Given the description of an element on the screen output the (x, y) to click on. 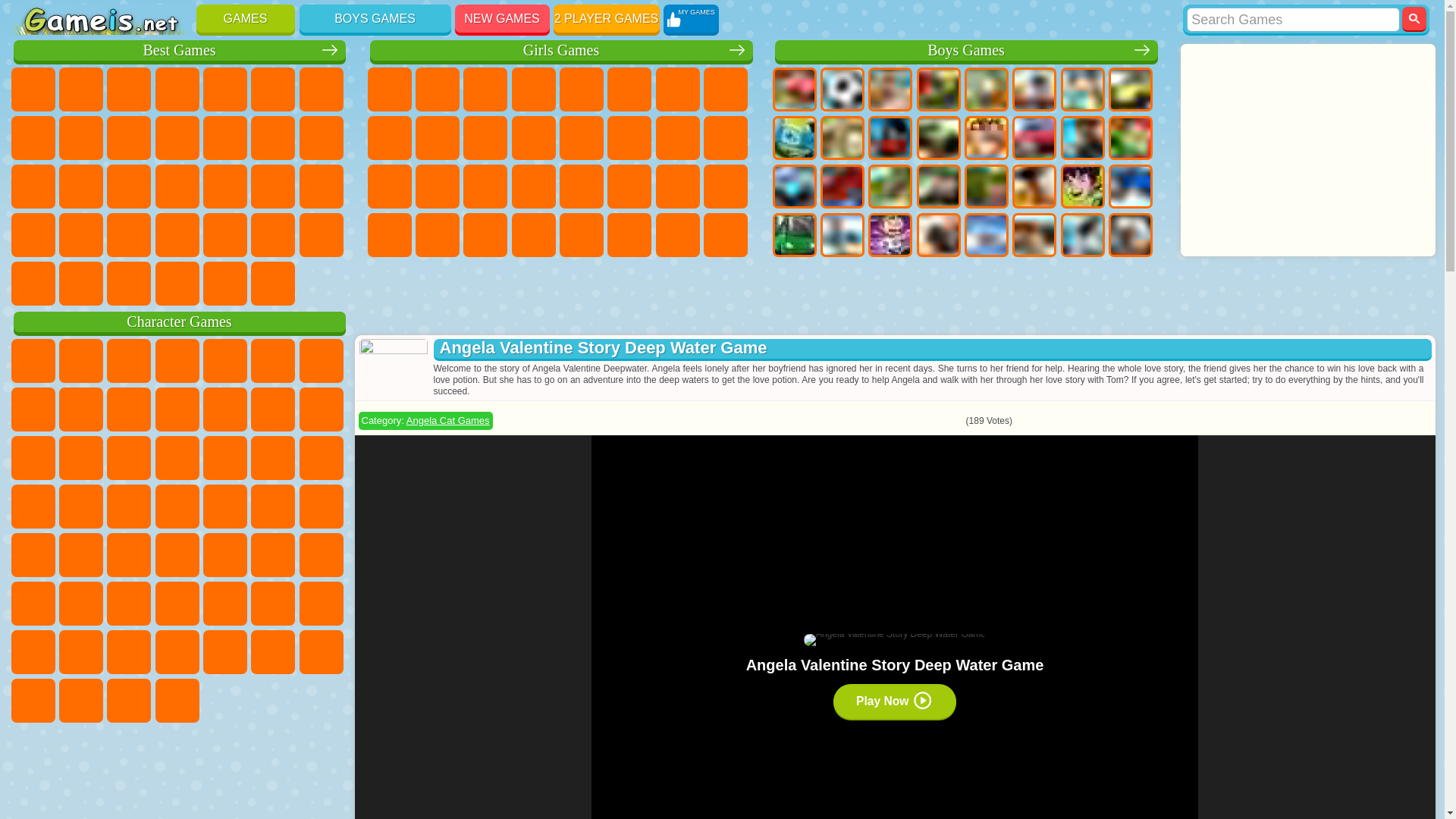
Strategy (889, 89)
Zombie (986, 89)
Football (842, 89)
GTA (1034, 186)
Parking (793, 89)
2 PLAYER GAMES (606, 18)
Zombie Games (986, 89)
Truck (938, 137)
Motorcycle (842, 137)
Strategy Games (889, 89)
